Given the description of an element on the screen output the (x, y) to click on. 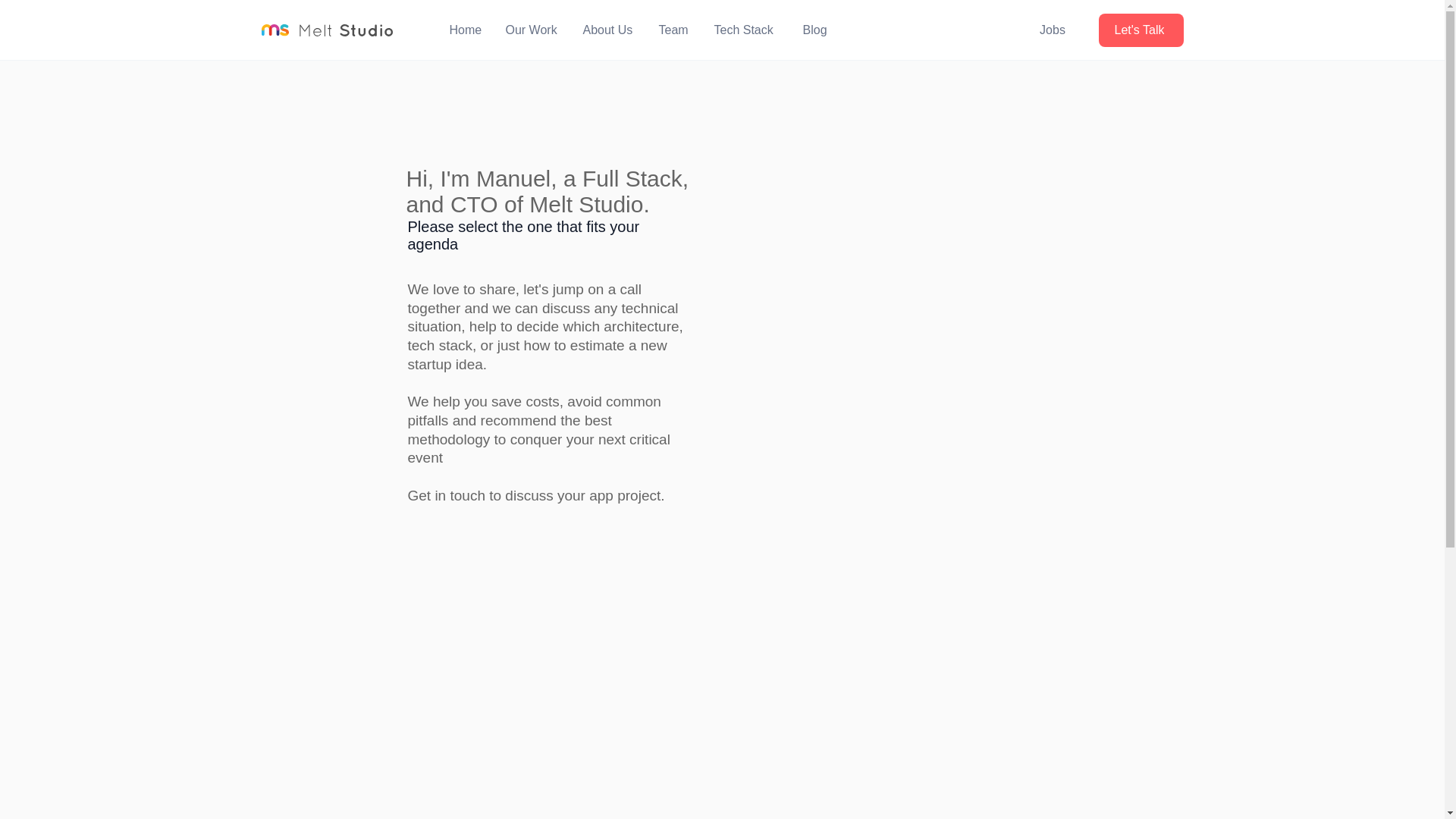
Home (469, 30)
Our Work (536, 30)
Jobs (1053, 29)
Team (678, 30)
Tech Stack (750, 30)
Let's Talk (1139, 29)
Blog (817, 30)
About Us (612, 30)
